Given the description of an element on the screen output the (x, y) to click on. 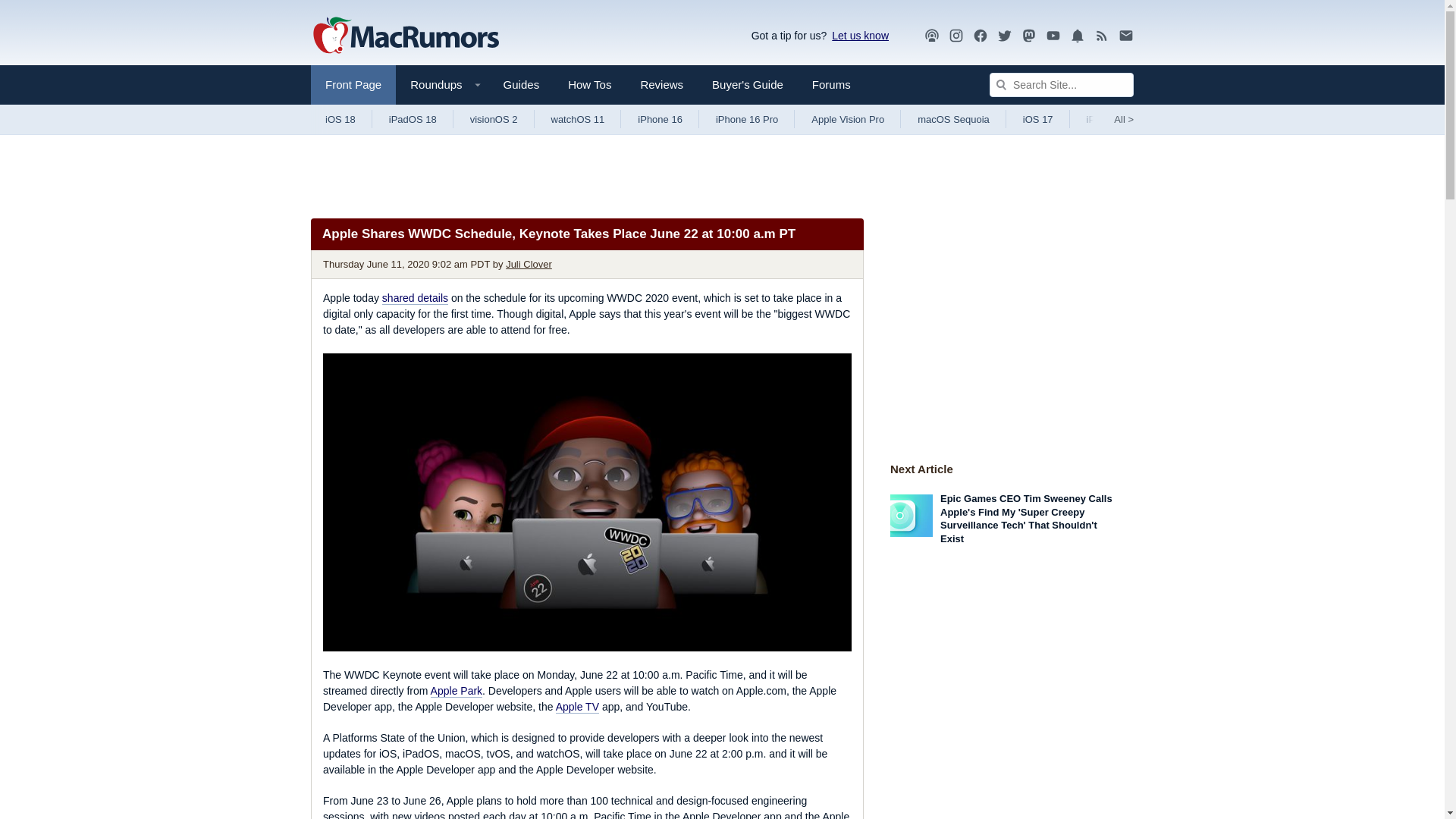
Instagram (956, 35)
Twitter (1004, 35)
Front (353, 84)
Newsletter (1126, 35)
MacRumors on Mastodon (1029, 35)
Facebook (980, 35)
MacRumors FaceBook Page (980, 35)
MacRumors on Instagram (956, 35)
Podcast (931, 35)
Notifications (1077, 35)
Buyer's Guide (747, 84)
Podcast (931, 35)
How Tos (589, 84)
Guides (521, 84)
Reviews (661, 84)
